Given the description of an element on the screen output the (x, y) to click on. 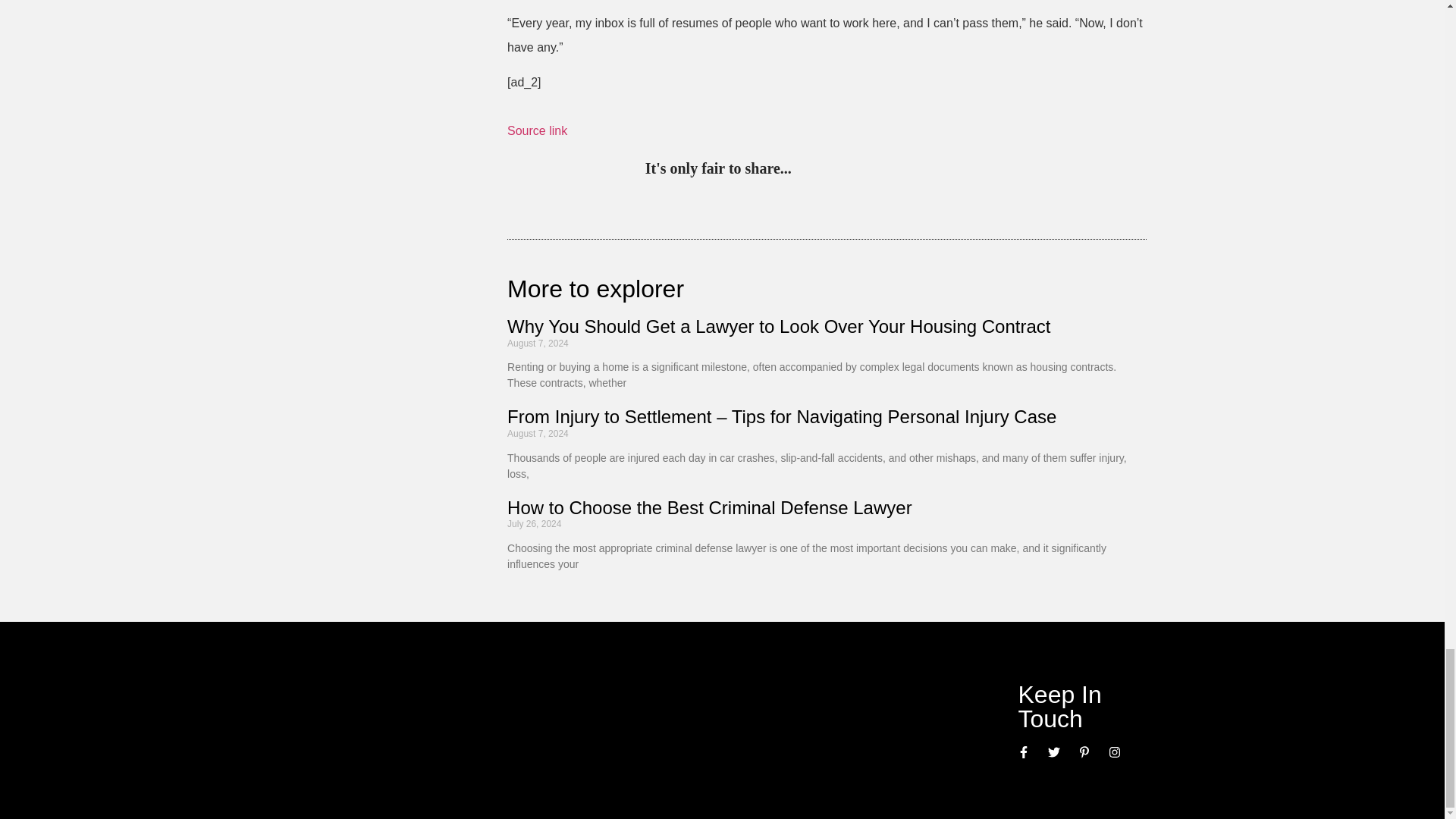
email (962, 169)
twitter (837, 169)
print (993, 169)
linkedin (869, 169)
How to Choose the Best Criminal Defense Lawyer  (711, 507)
pinterest (807, 169)
google (900, 169)
Source link (536, 130)
facebook (931, 169)
